Given the description of an element on the screen output the (x, y) to click on. 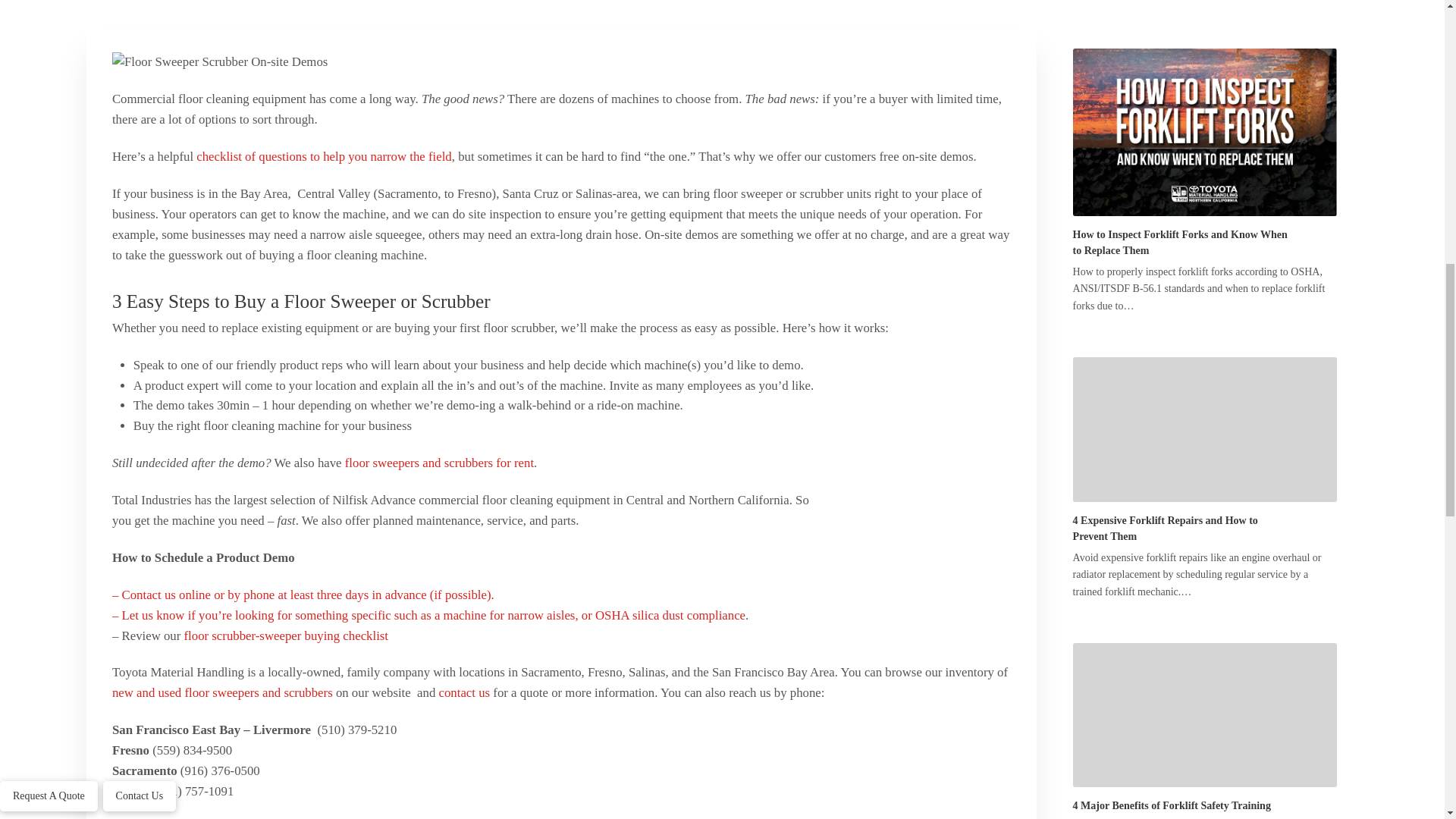
floor sweepers and scrubbers for rent (439, 462)
How to Inspect Forklift Forks and Know When to Replace Them (1204, 132)
4 Expensive Forklift Repairs and How to Prevent Them (1204, 429)
floor scrubber-sweeper buying checklist  (287, 635)
new and used floor sweepers and scrubbers (222, 692)
Floor Sweeper Scrubber On-site Demos (917, 547)
checklist of questions to help you narrow the field (323, 156)
contact us (464, 692)
OSHA silica dust compliance (670, 615)
Floor Sweeper Scrubber On-site Demos (500, 62)
